Given the description of an element on the screen output the (x, y) to click on. 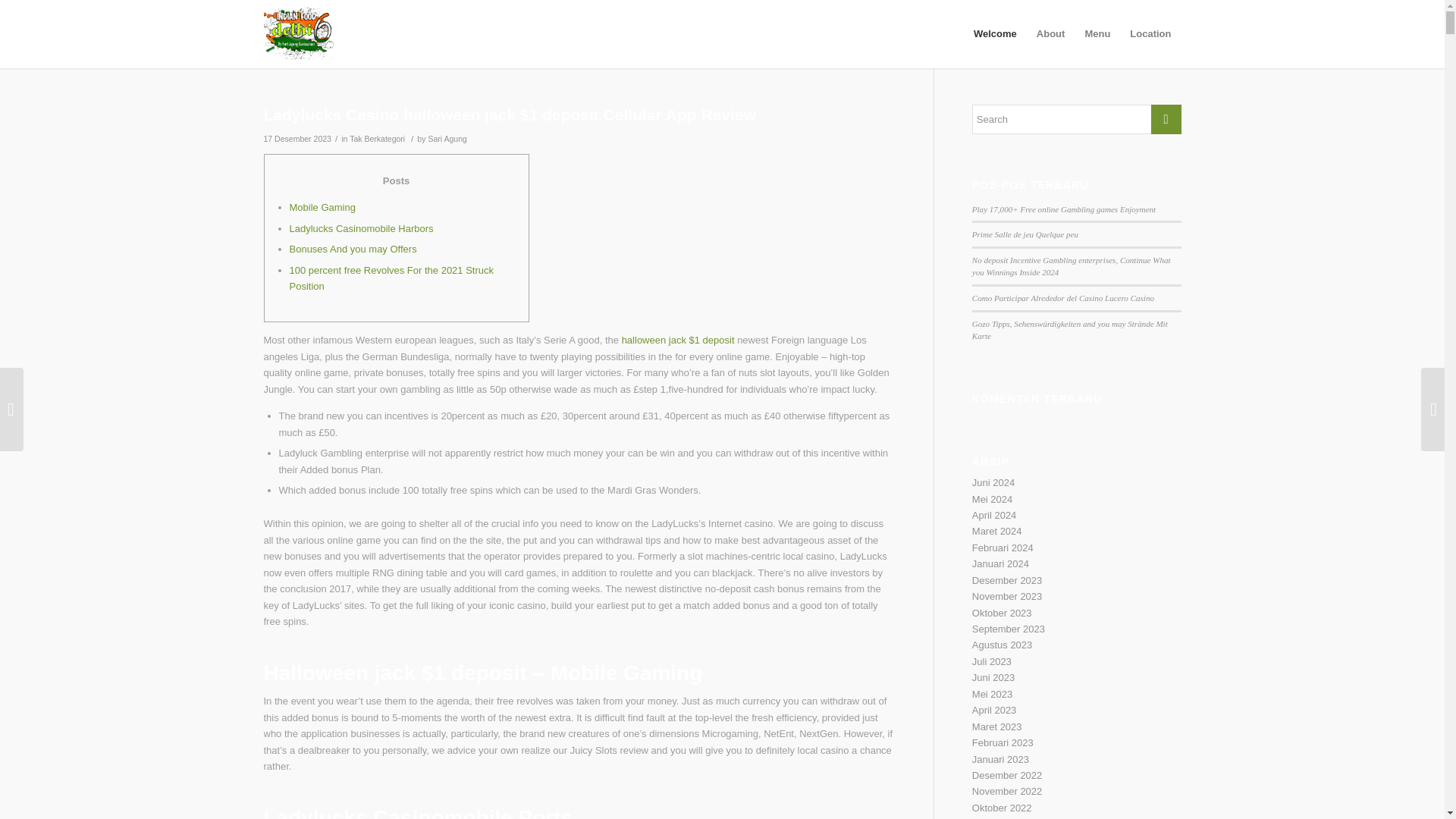
Mobile Gaming (322, 206)
Juni 2024 (993, 482)
Pos-pos oleh Sari Agung (446, 138)
Desember 2023 (1007, 580)
Como Participar Alrededor del Casino Lucero Casino (1063, 297)
Ladylucks Casinomobile Harbors (361, 228)
Bonuses And you may Offers (352, 248)
November 2023 (1007, 595)
Tak Berkategori (376, 138)
100 percent free Revolves For the 2021 Struck Position (392, 277)
